Given the description of an element on the screen output the (x, y) to click on. 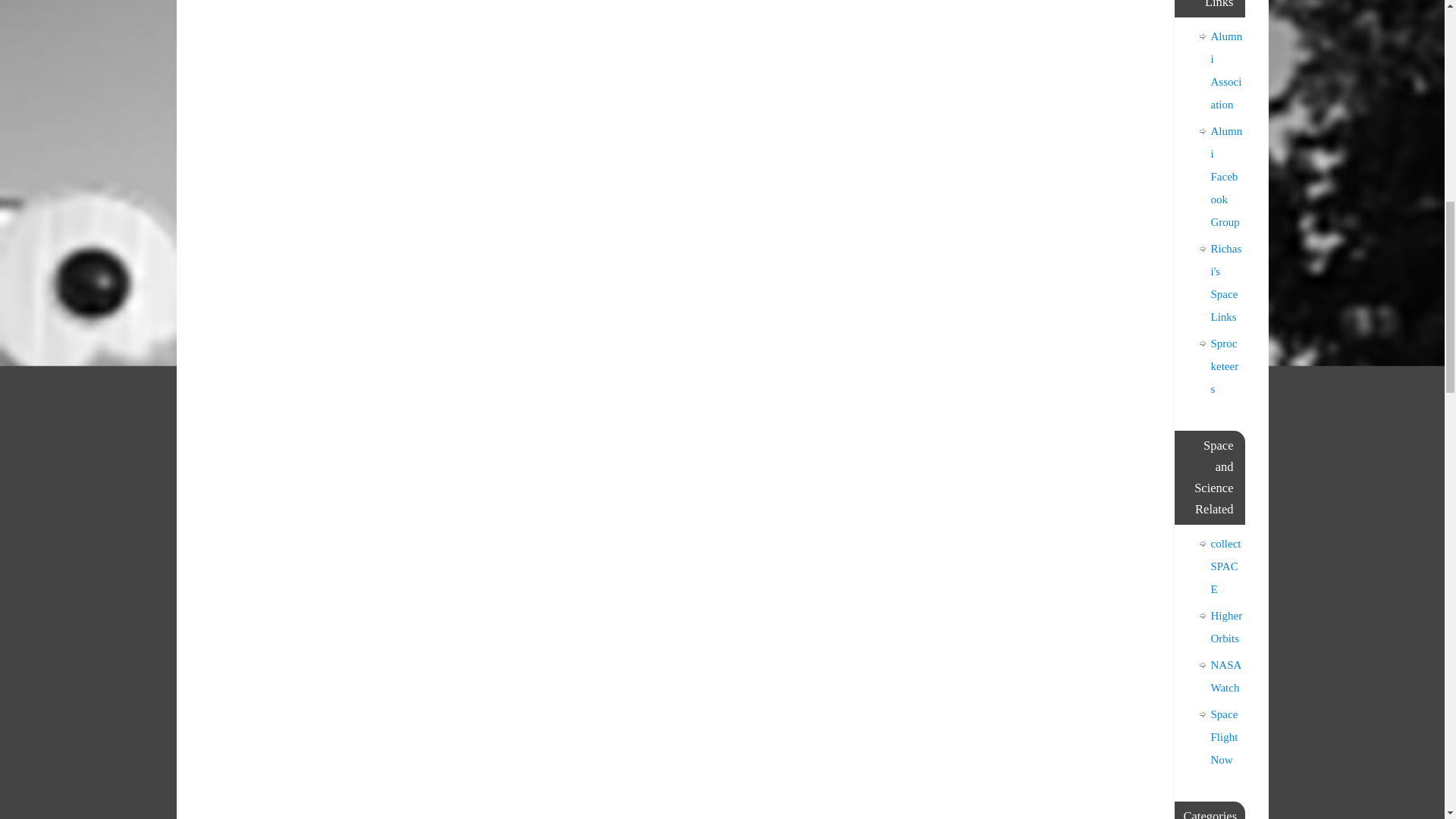
Online Space News (1223, 736)
SpaceFlightNow (1223, 736)
Alumni Association (1225, 70)
NASA Watch (1224, 676)
Higher Orbits (1225, 626)
collectSPACE (1224, 566)
Student support and advocacy for STEM education (1225, 626)
Sprocketeers (1224, 365)
Online NASA Watchdog Blog (1224, 676)
Richasi's Space Links (1225, 282)
Space Camp Alumni Association Website (1225, 70)
Alumni Facebook Group (1225, 176)
